Given the description of an element on the screen output the (x, y) to click on. 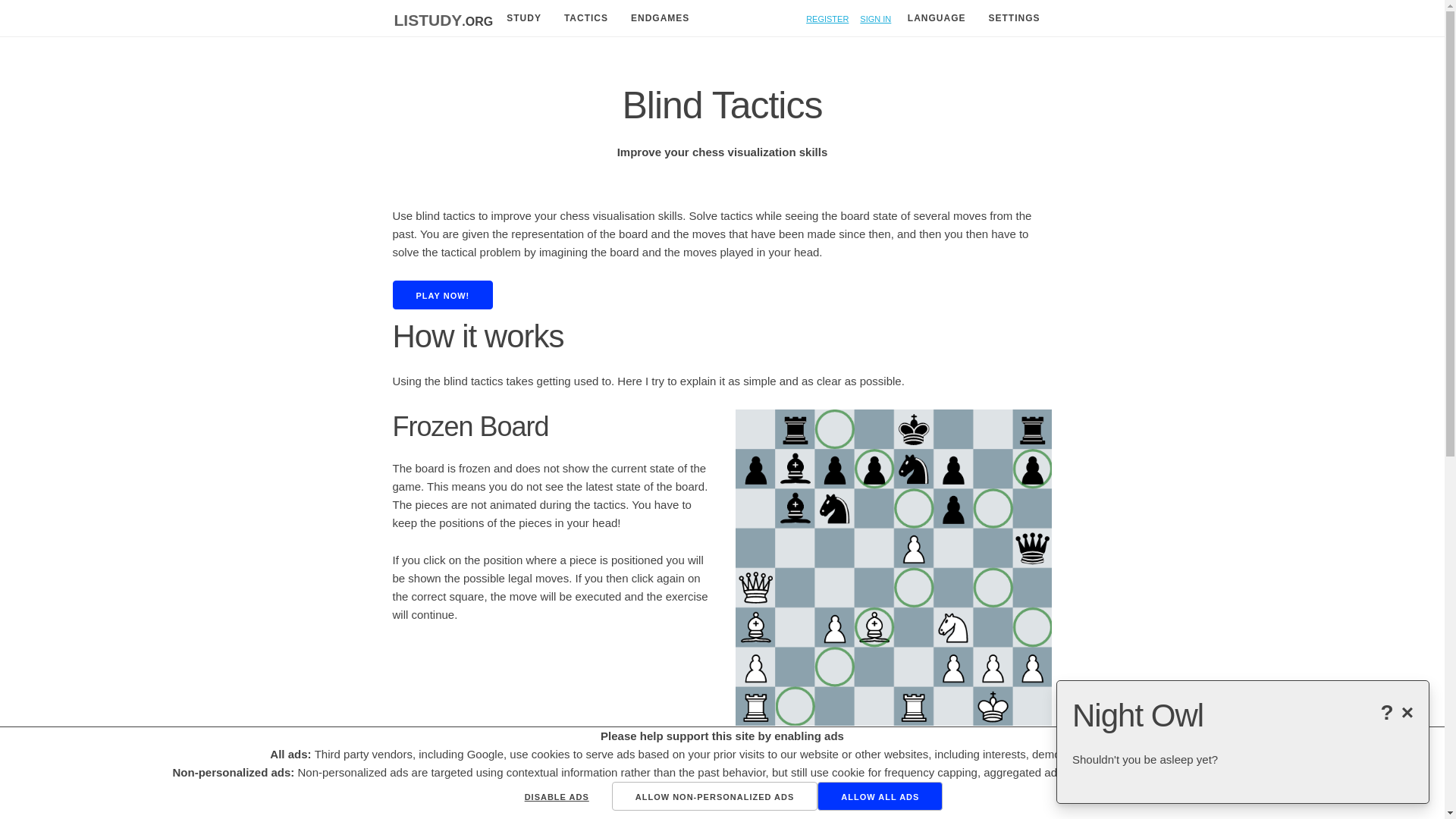
listudy.org (443, 21)
ENDGAMES (659, 18)
STUDY (523, 18)
ENDGAMES (659, 16)
Sign in (875, 17)
PLAY NOW! (443, 294)
PLAY NOW! (443, 294)
LANGUAGE (937, 18)
Register (827, 17)
SETTINGS (1013, 18)
TACTICS (585, 18)
